Given the description of an element on the screen output the (x, y) to click on. 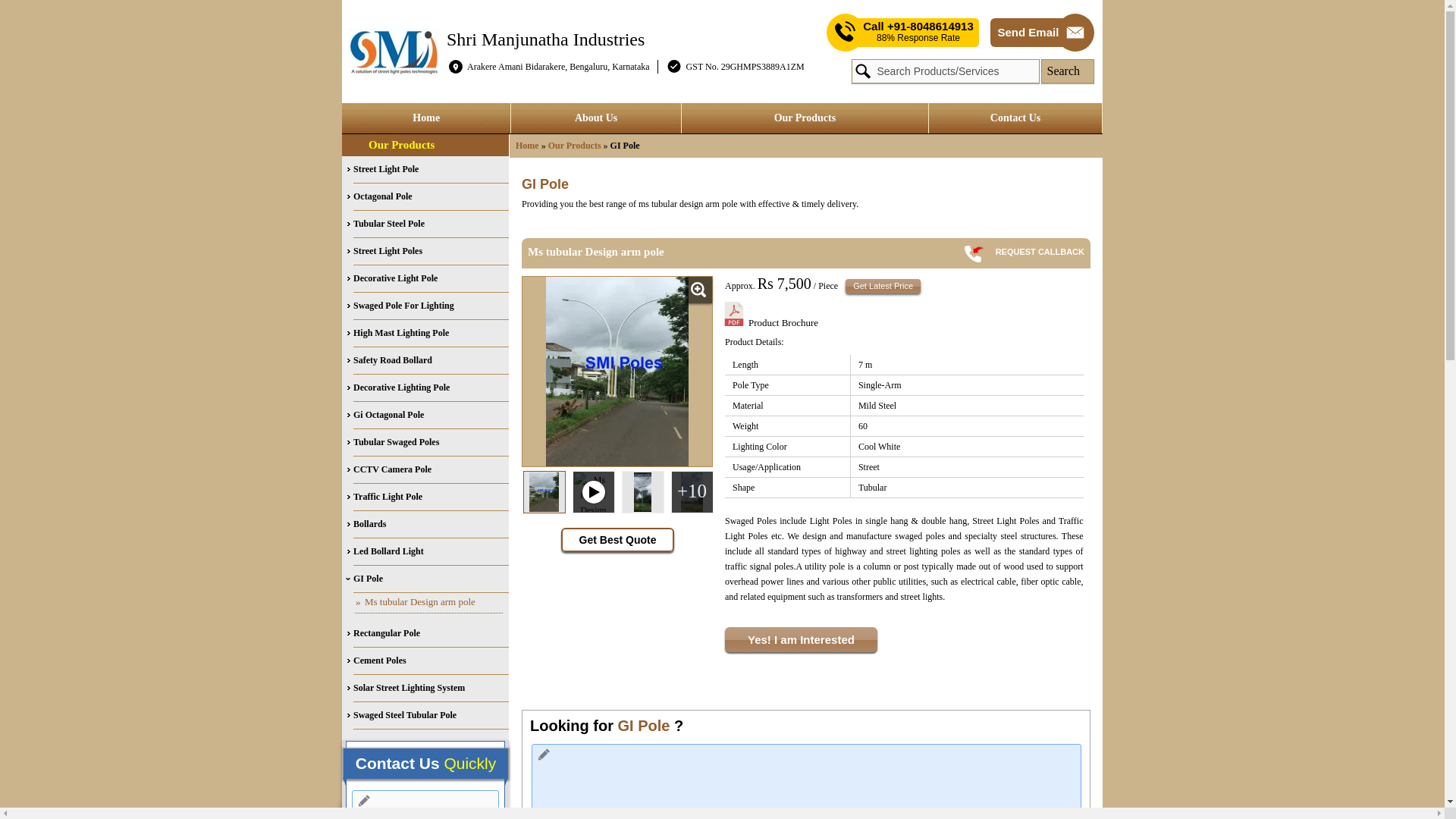
Contact Us (1015, 118)
Our Products (804, 118)
About Us (595, 118)
Home (526, 145)
Our Products (400, 144)
Home (426, 118)
Decorative Light Pole (430, 278)
Shri Manjunatha Industries (545, 38)
Street Light Poles (430, 251)
Street Light Pole (430, 169)
